Given the description of an element on the screen output the (x, y) to click on. 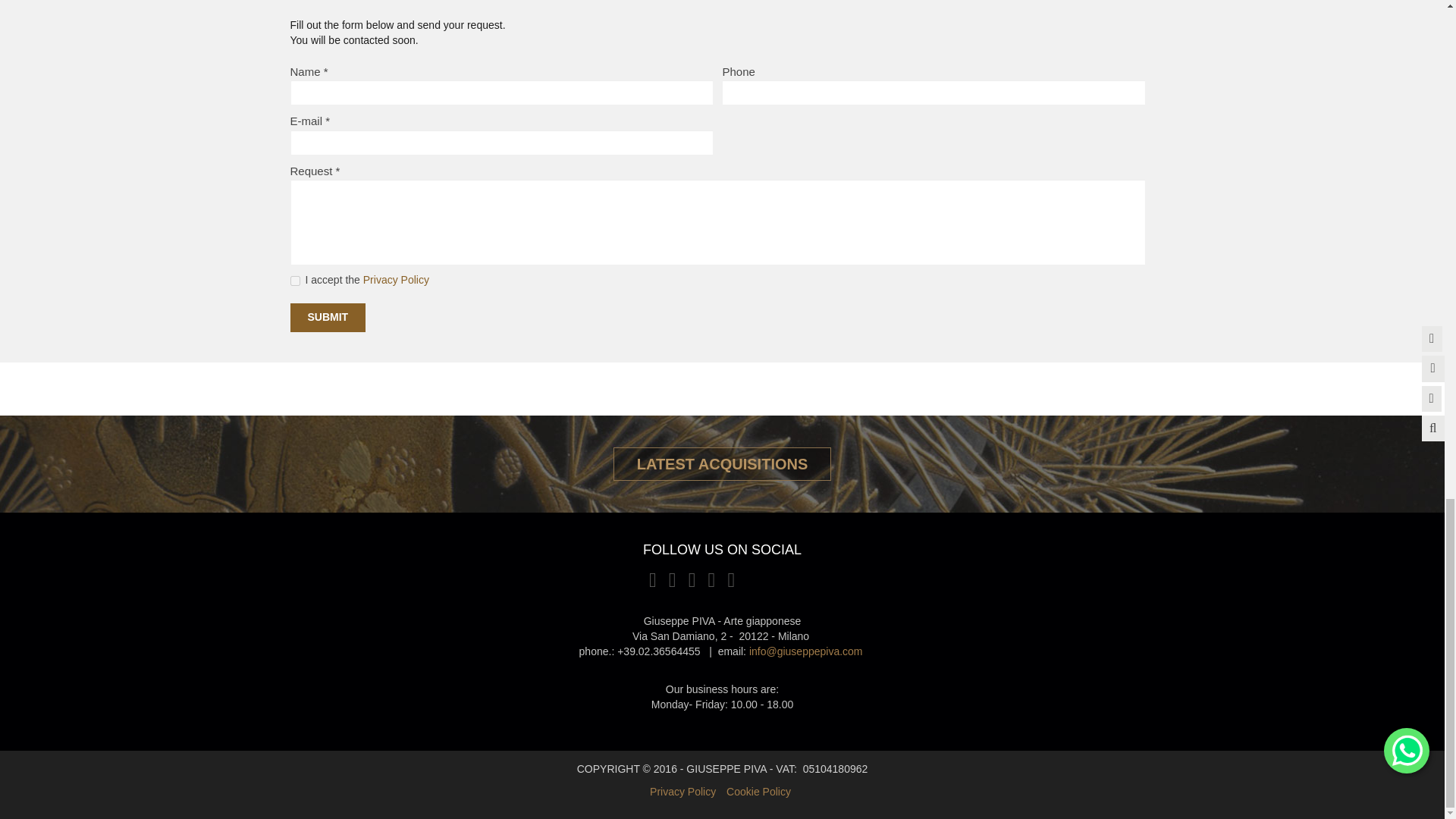
true (294, 280)
This field is required. (338, 170)
This field is required. (327, 120)
This field is required. (326, 71)
